Given the description of an element on the screen output the (x, y) to click on. 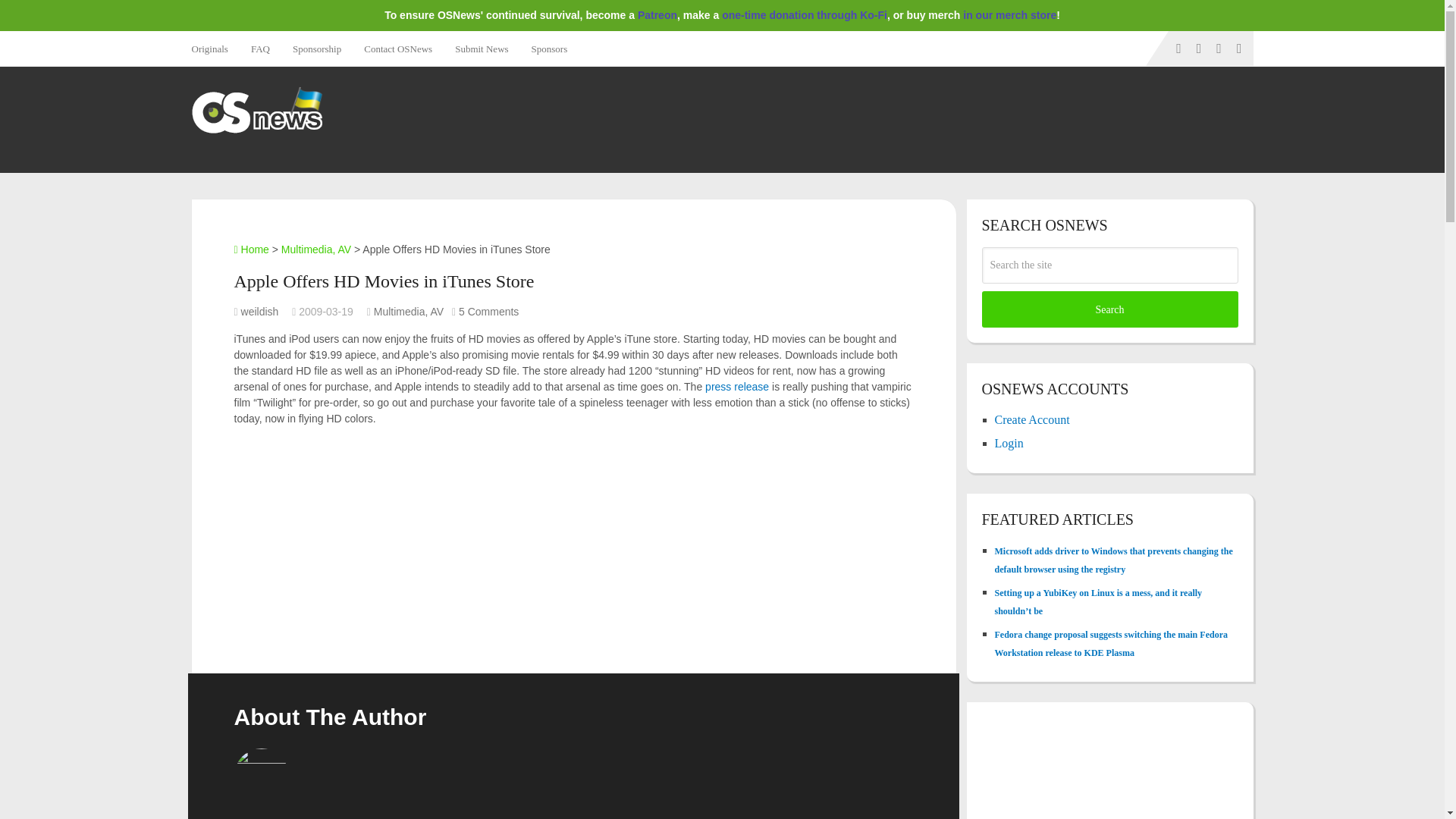
Create Account (1032, 419)
Sponsorship (316, 48)
FAQ (260, 48)
Search (1109, 309)
5 Comments (488, 311)
Login (1008, 442)
Posts by weildish (260, 311)
in our merch store (1009, 15)
Patreon (657, 15)
Contact OSNews (398, 48)
